Given the description of an element on the screen output the (x, y) to click on. 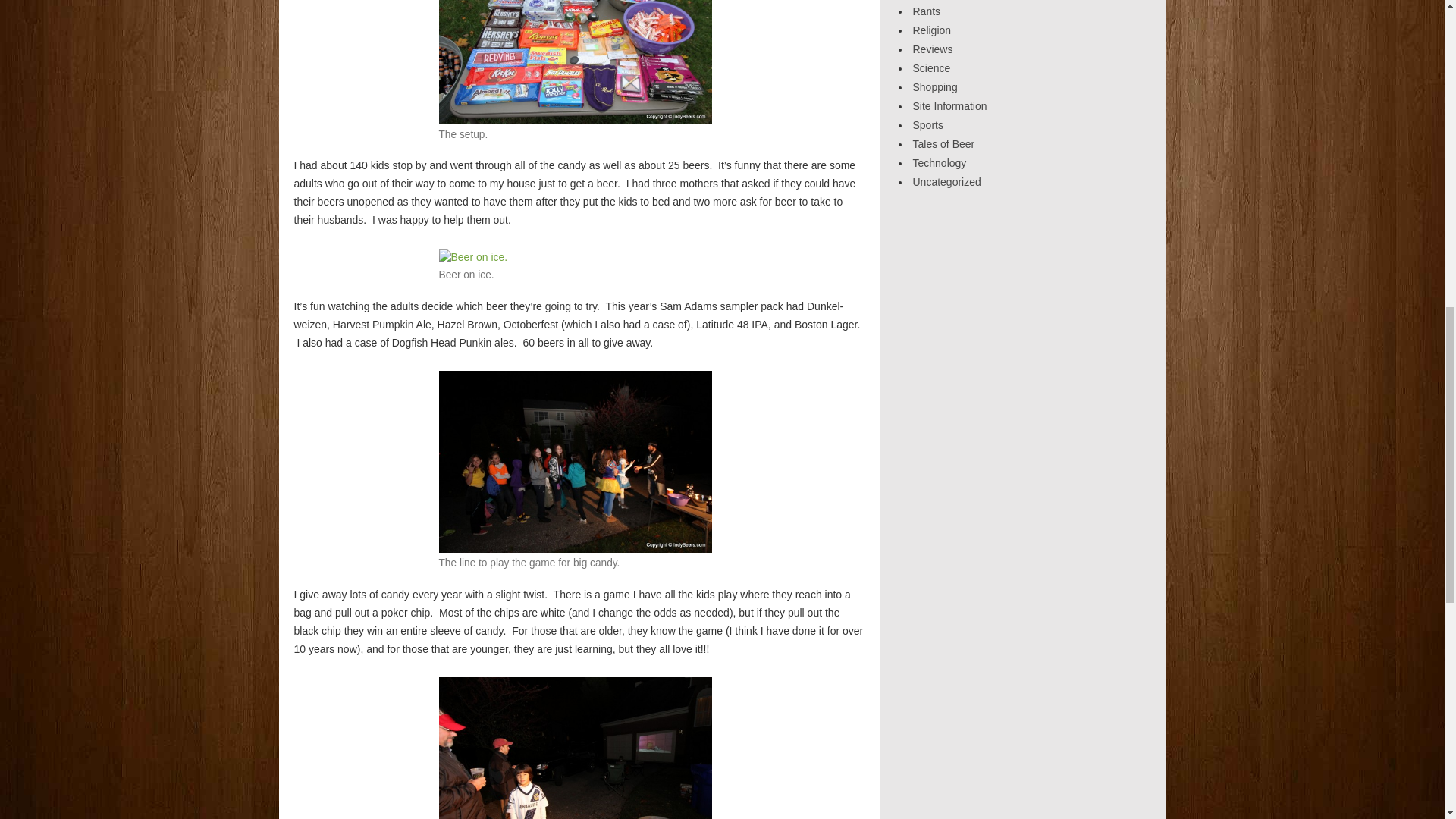
Everyone likes Charlie Brown! (574, 767)
The setup. (574, 62)
The setup. (574, 32)
The line to play the game for big candy. (574, 461)
Beer on ice. (472, 256)
The line to play the game for big candy. (574, 460)
Beer on ice. (472, 256)
